Given the description of an element on the screen output the (x, y) to click on. 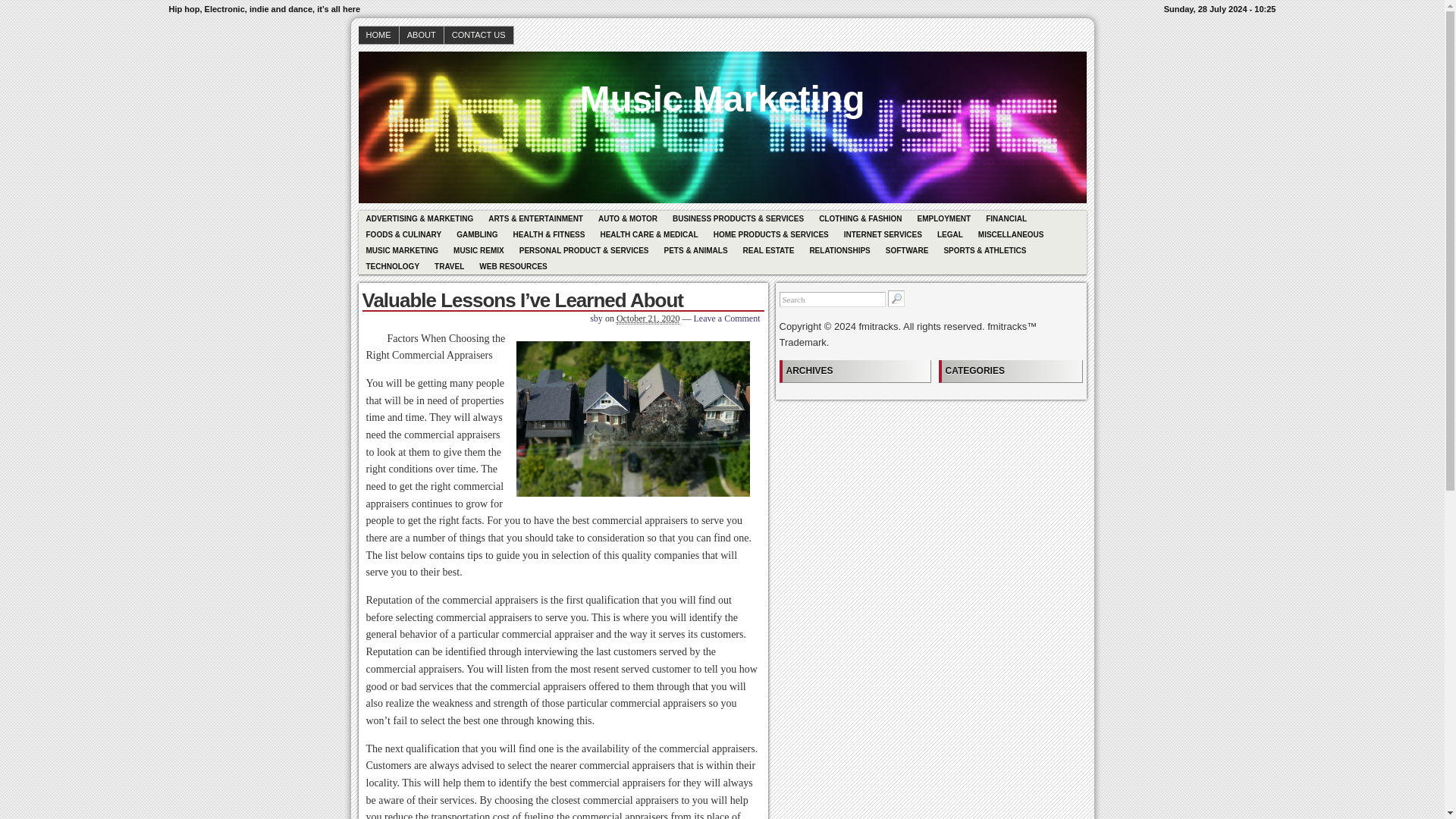
sby (595, 317)
GAMBLING (476, 234)
October 21, 2020 - 7:43 pm (647, 318)
TECHNOLOGY (392, 266)
CONTACT US (478, 34)
HOME (378, 34)
Leave a Comment (727, 317)
REAL ESTATE (768, 250)
ABOUT (421, 34)
View all posts by sby (595, 317)
TRAVEL (448, 266)
MUSIC REMIX (478, 250)
INTERNET SERVICES (882, 234)
SOFTWARE (906, 250)
Music Marketing (721, 88)
